Given the description of an element on the screen output the (x, y) to click on. 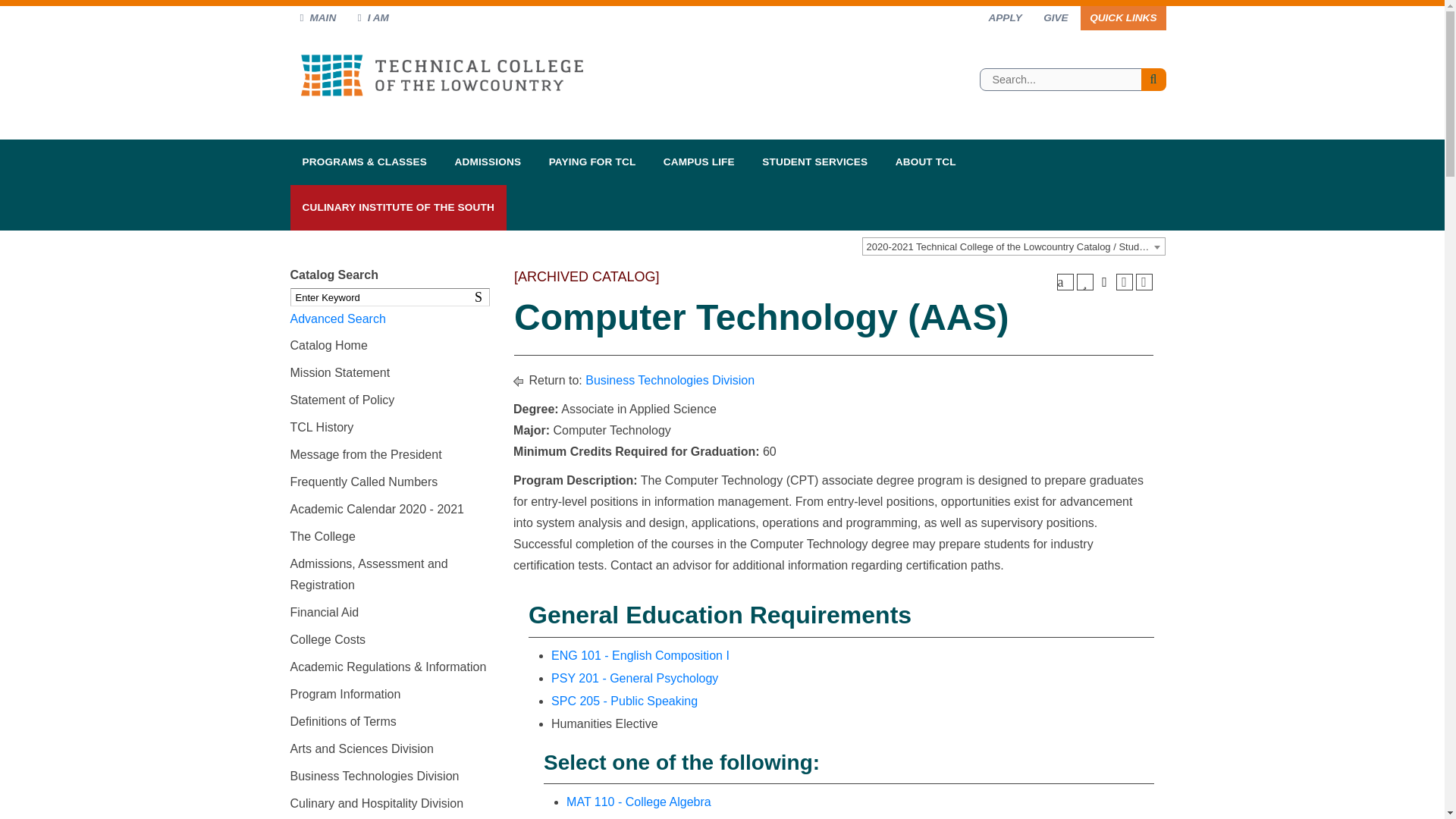
QUICK LINKS (1123, 17)
Search (481, 297)
Select a Catalog (1012, 246)
MAIN (318, 17)
APPLY (1004, 17)
Enter Keyword   (389, 297)
Search Keyword Field, required (389, 297)
GIVE (1055, 17)
I AM (373, 17)
